Given the description of an element on the screen output the (x, y) to click on. 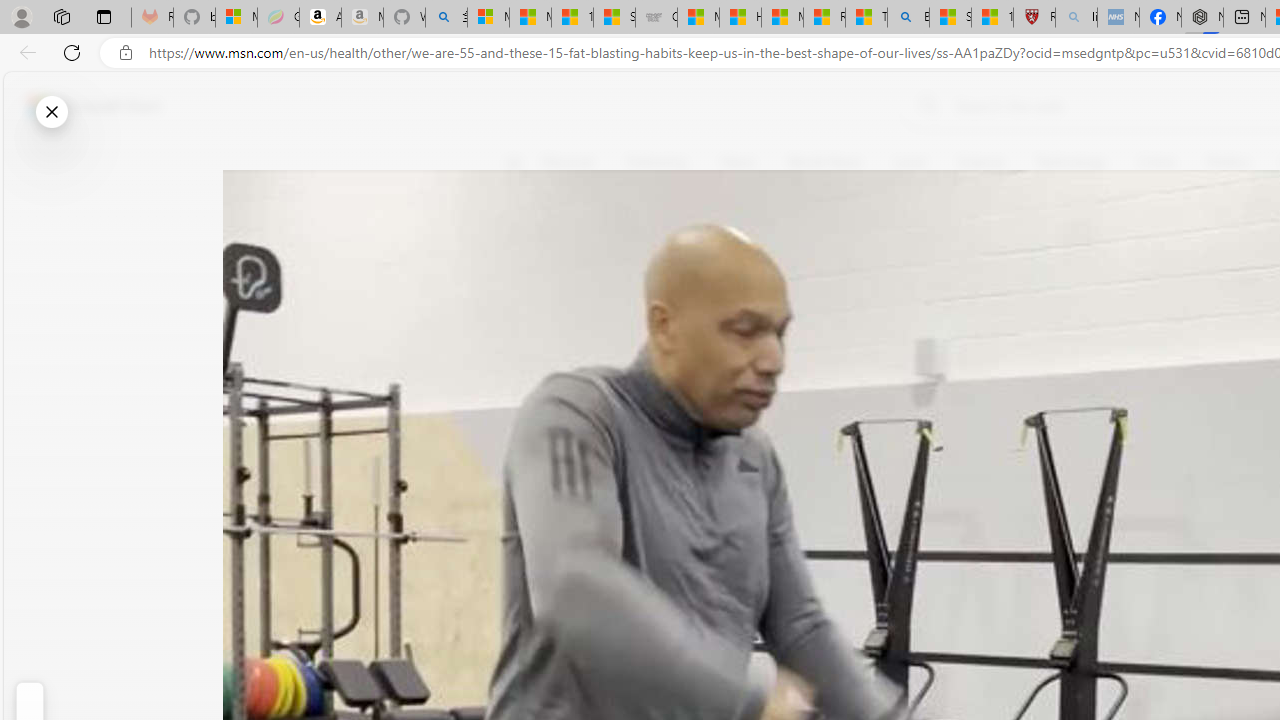
News (738, 162)
New tab (1243, 17)
